Given the description of an element on the screen output the (x, y) to click on. 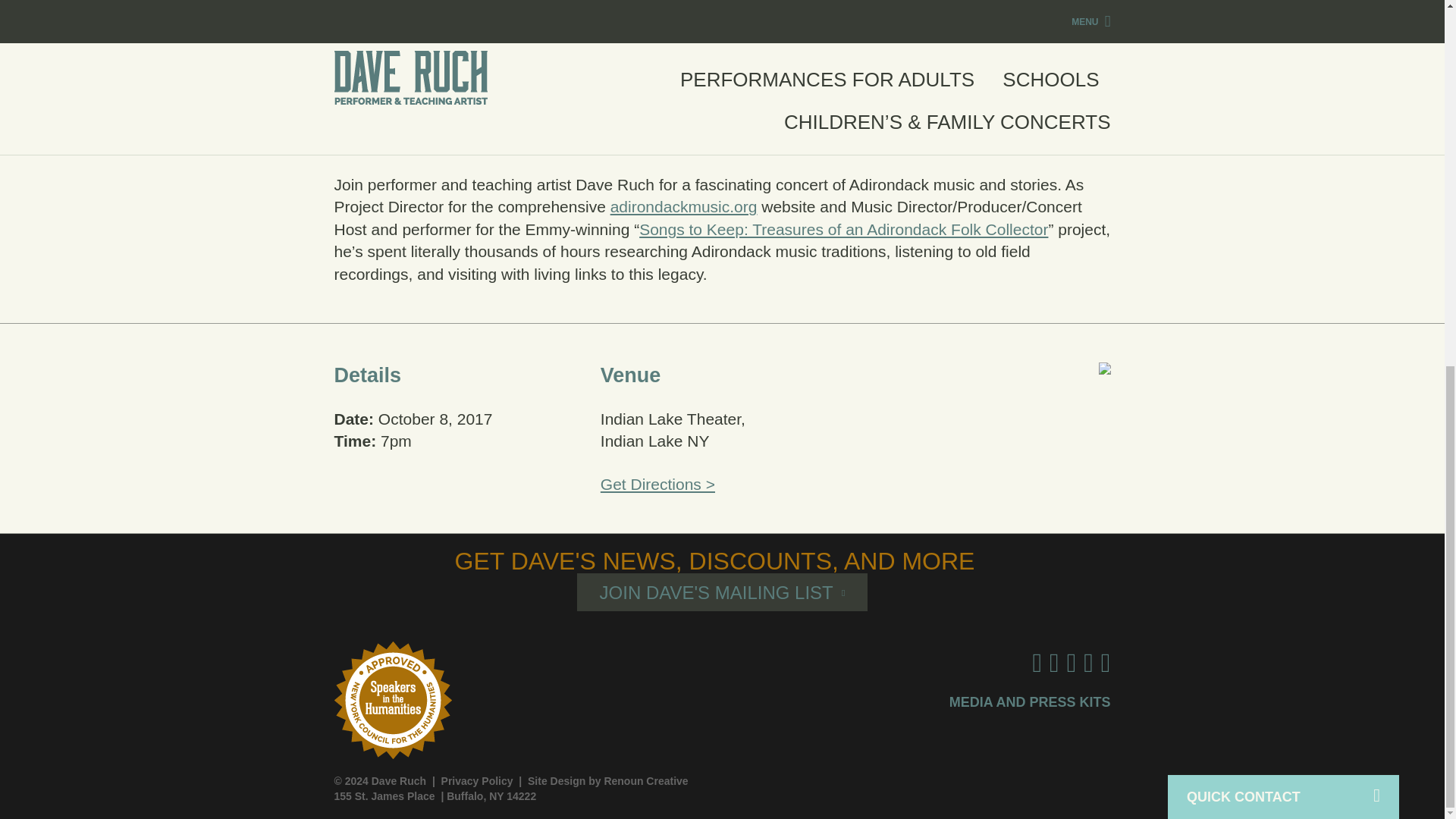
MEDIA AND PRESS KITS (1029, 702)
adirondackmusic.org (683, 206)
Renoun Creative (645, 780)
Songs to Keep: Treasures of an Adirondack Folk Collector (843, 229)
Privacy Policy (477, 780)
Privacy Policy (477, 780)
Media and Press Kits (1029, 702)
JOIN DAVE'S MAILING LIST (721, 591)
